Given the description of an element on the screen output the (x, y) to click on. 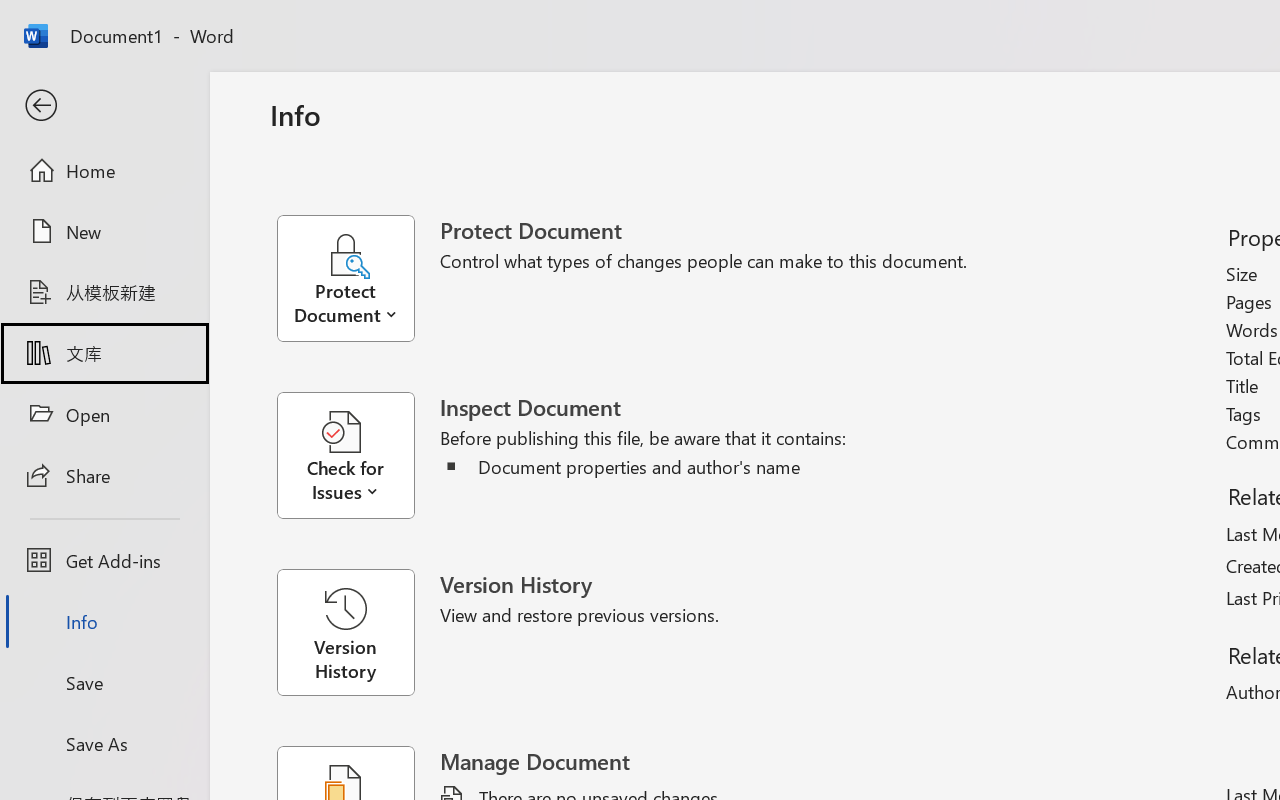
Protect Document (358, 278)
